Given the description of an element on the screen output the (x, y) to click on. 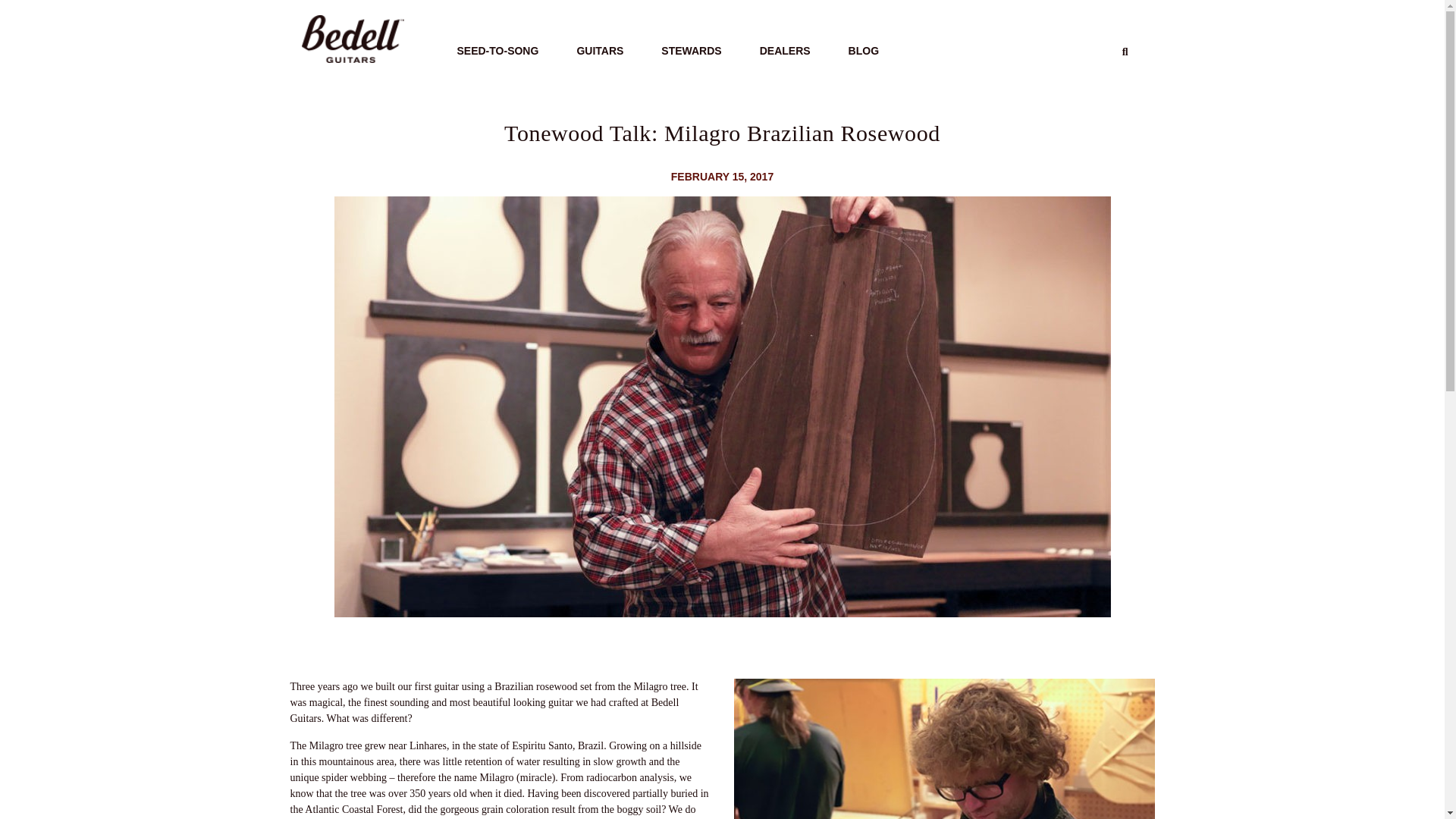
SEED-TO-SONG (497, 50)
BLOG (863, 50)
STEWARDS (690, 50)
GUITARS (599, 50)
DEALERS (785, 50)
